Given the description of an element on the screen output the (x, y) to click on. 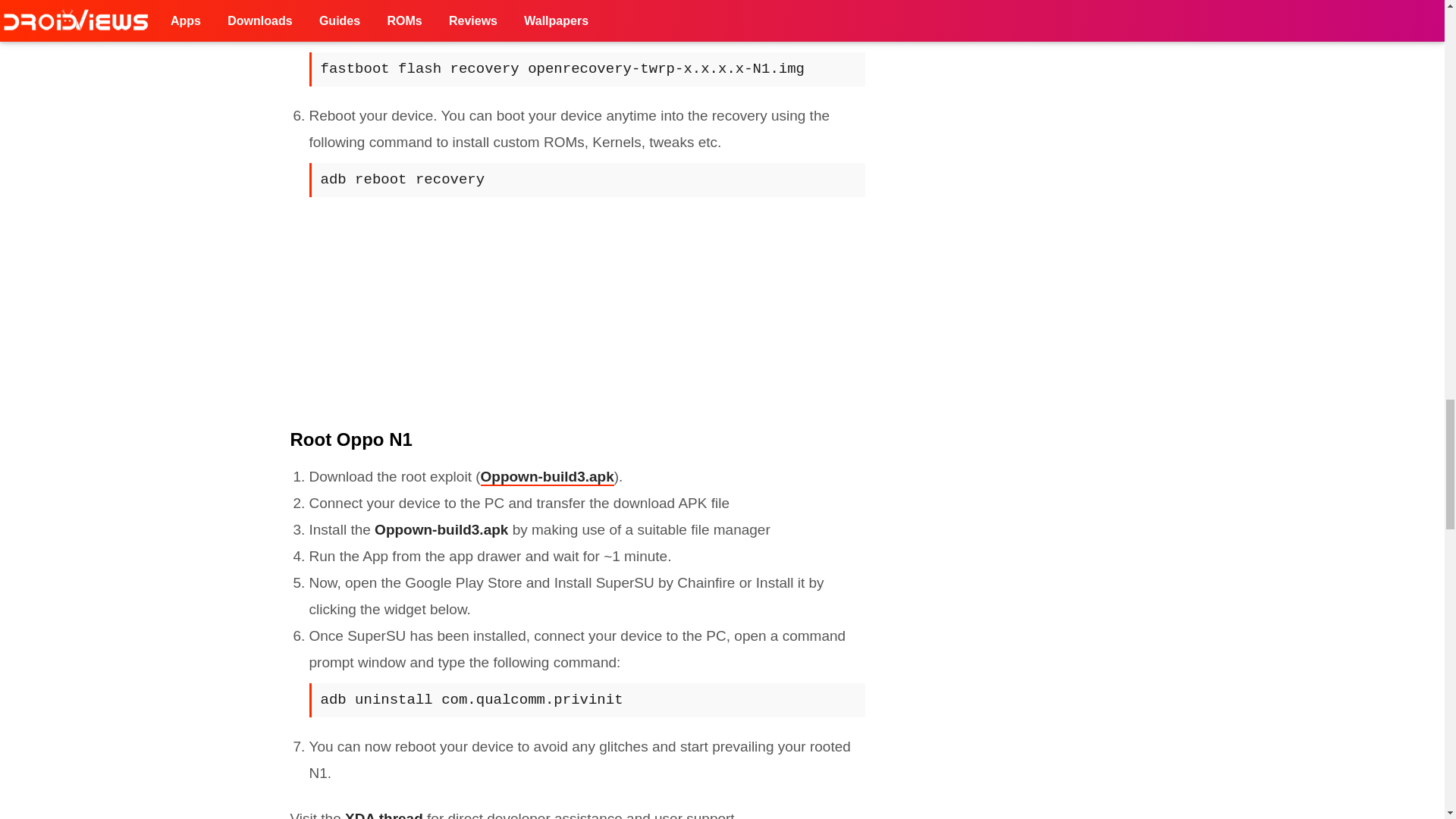
developer (518, 814)
Oppown-build3.apk (547, 477)
XDA thread (384, 814)
